Given the description of an element on the screen output the (x, y) to click on. 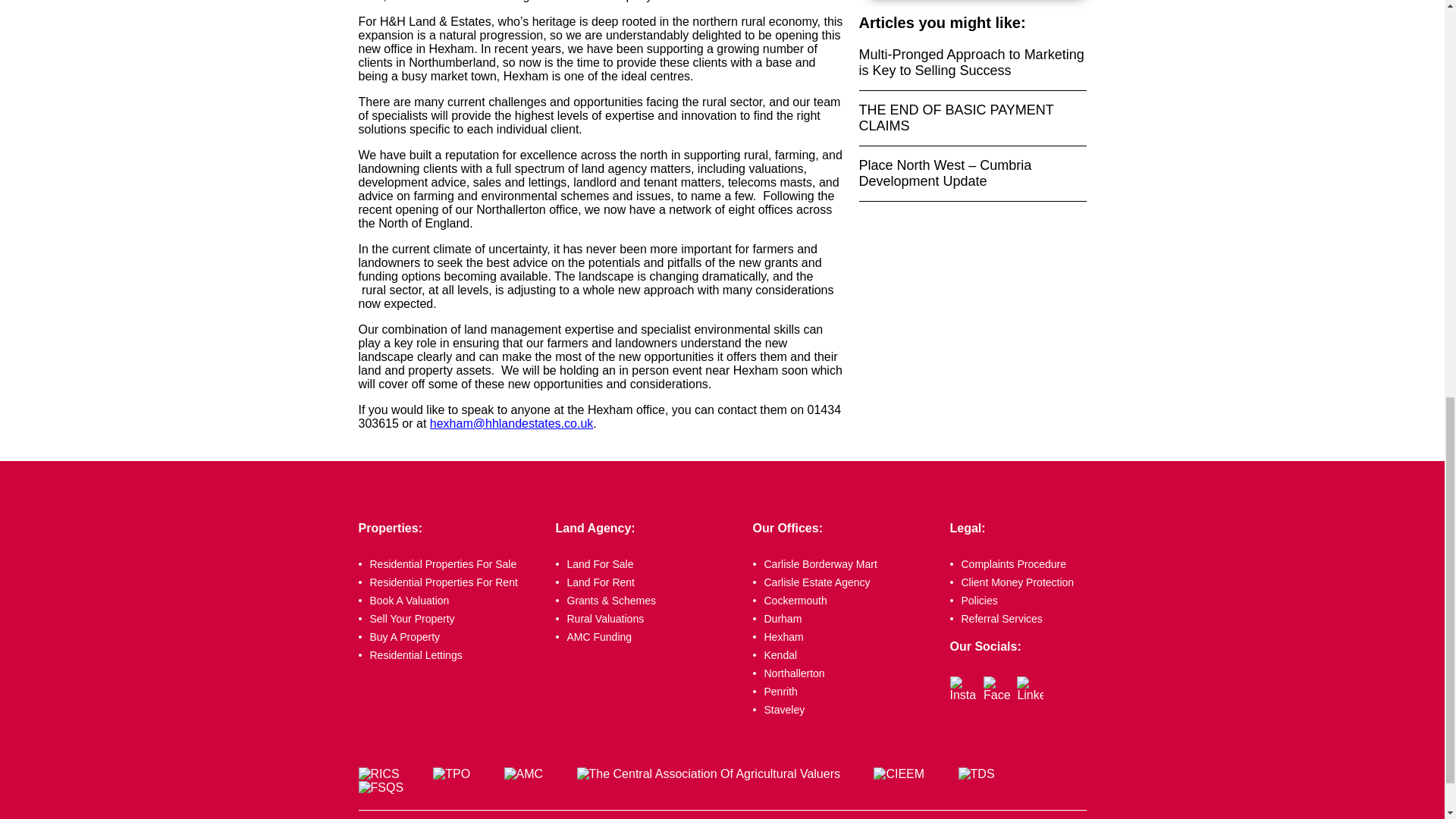
Residential Properties For Rent (449, 582)
Book A Valuation (449, 600)
Buy A Property (449, 636)
Sell Your Property (449, 618)
Residential Properties For Sale (449, 563)
THE END OF BASIC PAYMENT CLAIMS (972, 118)
